Given the description of an element on the screen output the (x, y) to click on. 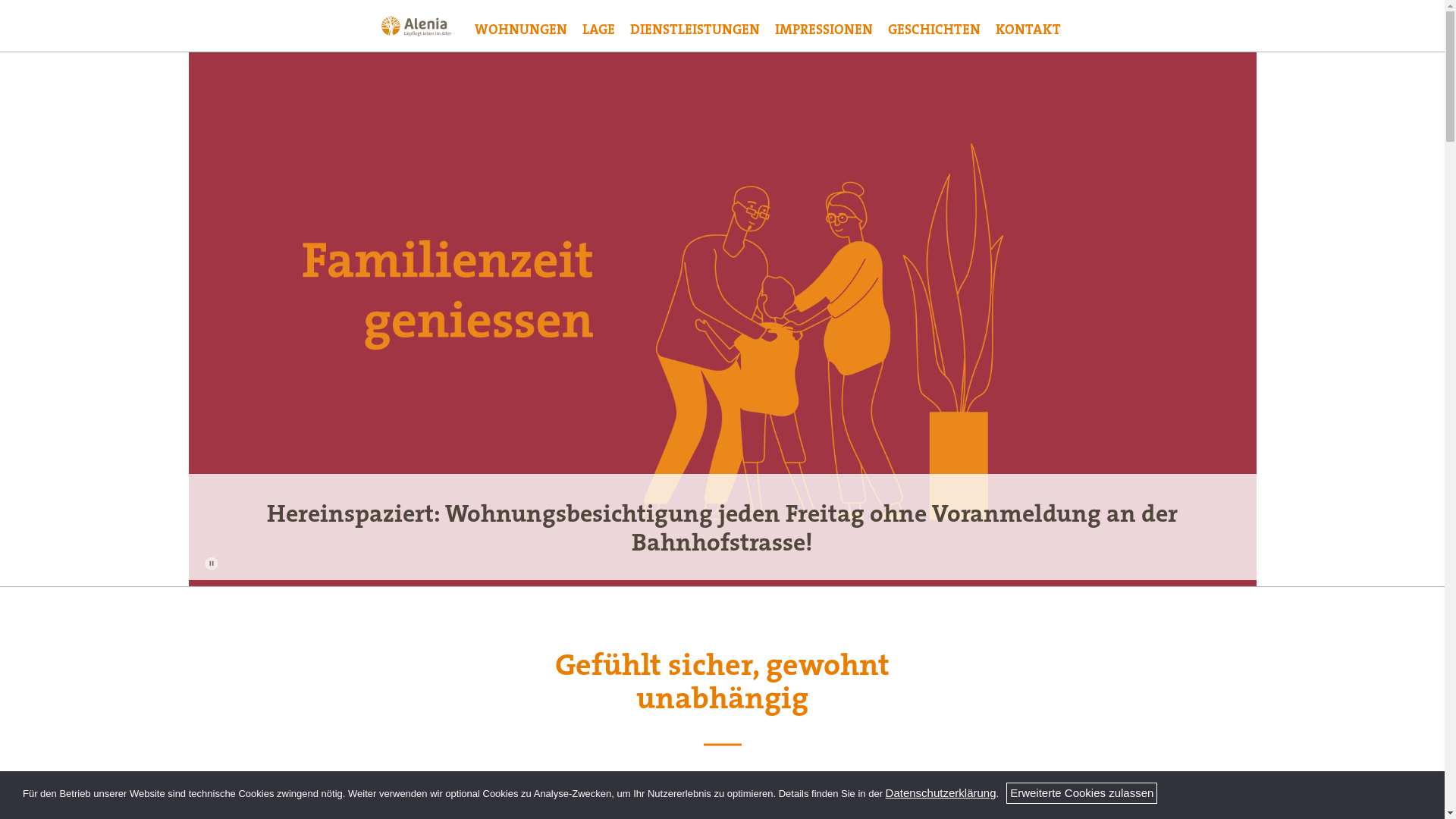
LAGE Element type: text (598, 29)
IMPRESSIONEN Element type: text (823, 29)
WOHNUNGEN Element type: text (520, 29)
KONTAKT Element type: text (1028, 29)
Scrollen Sie nach oben Element type: text (1415, 790)
DIENSTLEISTUNGEN Element type: text (694, 29)
GESCHICHTEN Element type: text (934, 29)
Erweiterte Cookies zulassen Element type: text (1081, 792)
